Given the description of an element on the screen output the (x, y) to click on. 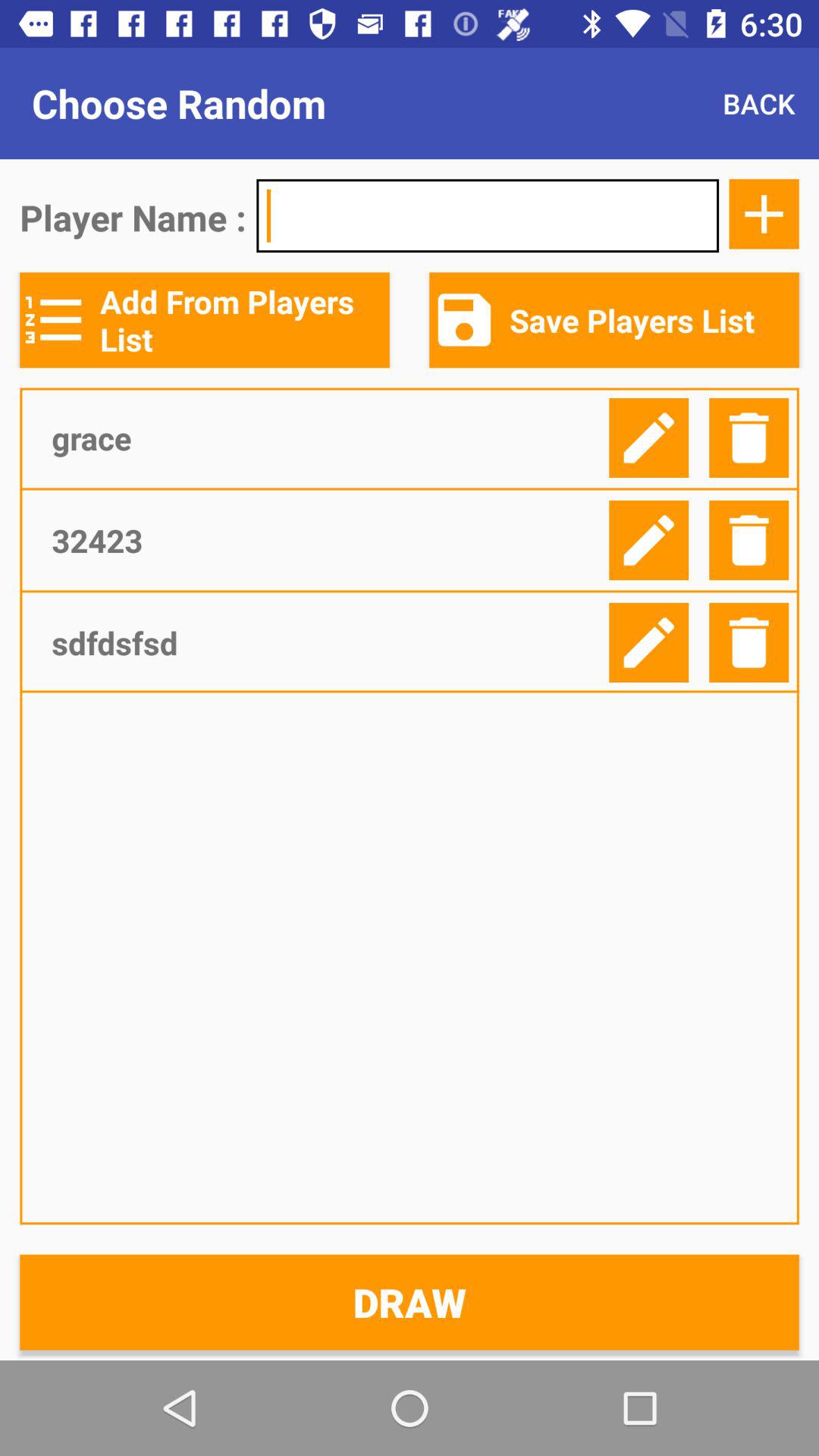
flip until the grace icon (324, 437)
